Given the description of an element on the screen output the (x, y) to click on. 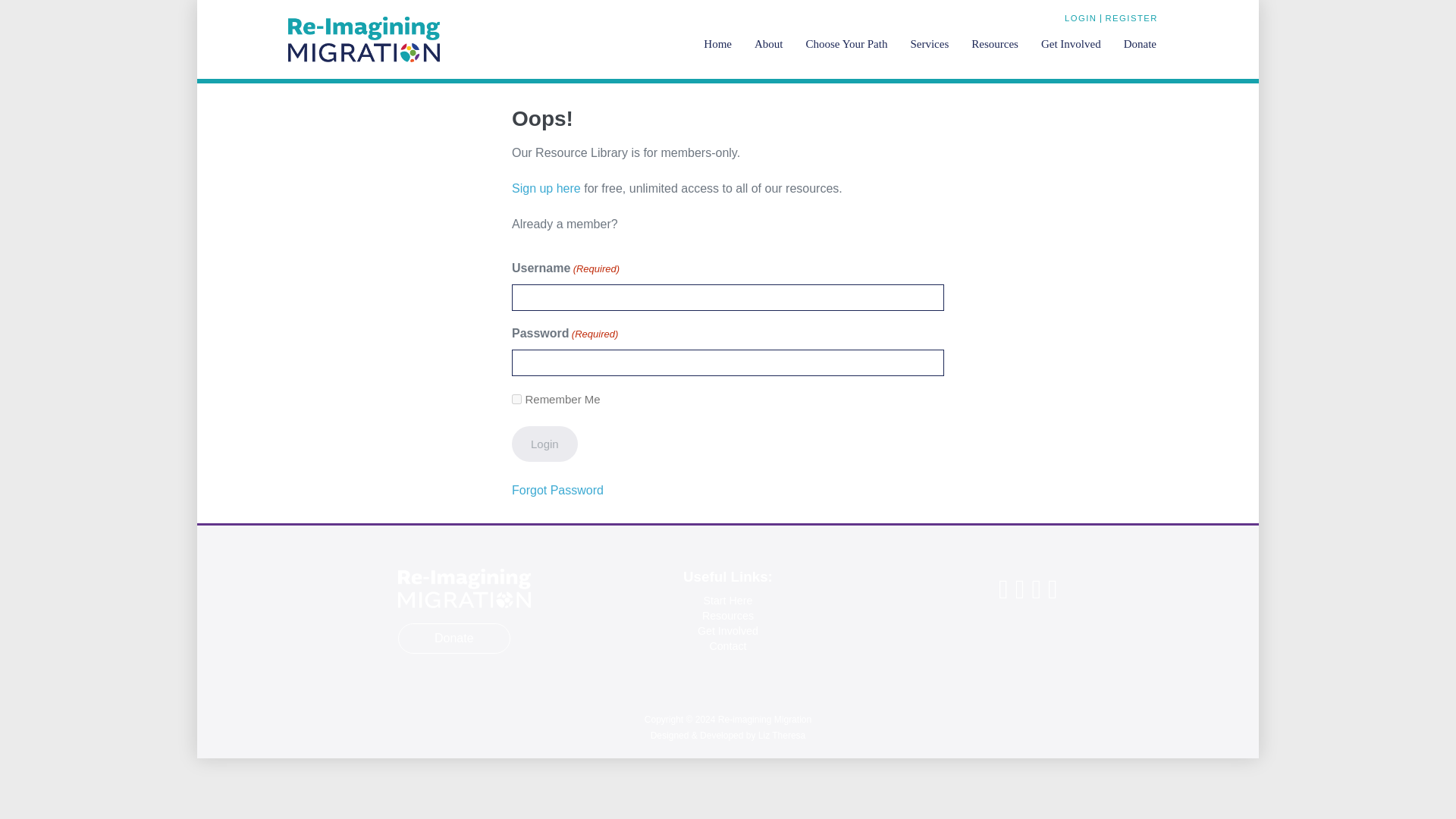
Services (928, 45)
Home (717, 45)
Donate (1139, 45)
logo-white (464, 588)
Choose Your Path (846, 45)
Login (545, 443)
Get Involved (1070, 45)
About (768, 45)
LOGIN (1080, 17)
REGISTER (1131, 17)
